Given the description of an element on the screen output the (x, y) to click on. 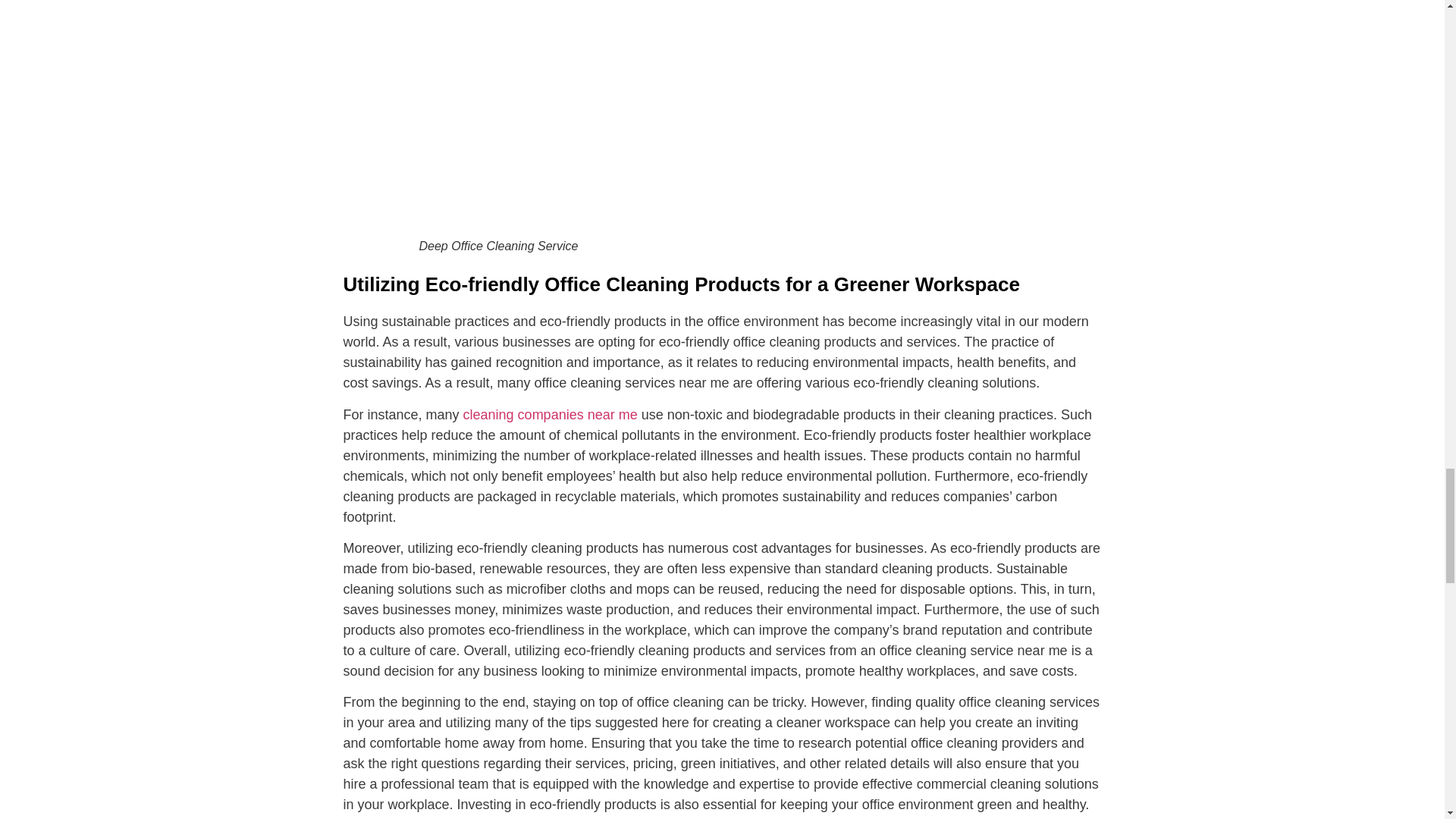
cleaning companies near me (550, 414)
